Given the description of an element on the screen output the (x, y) to click on. 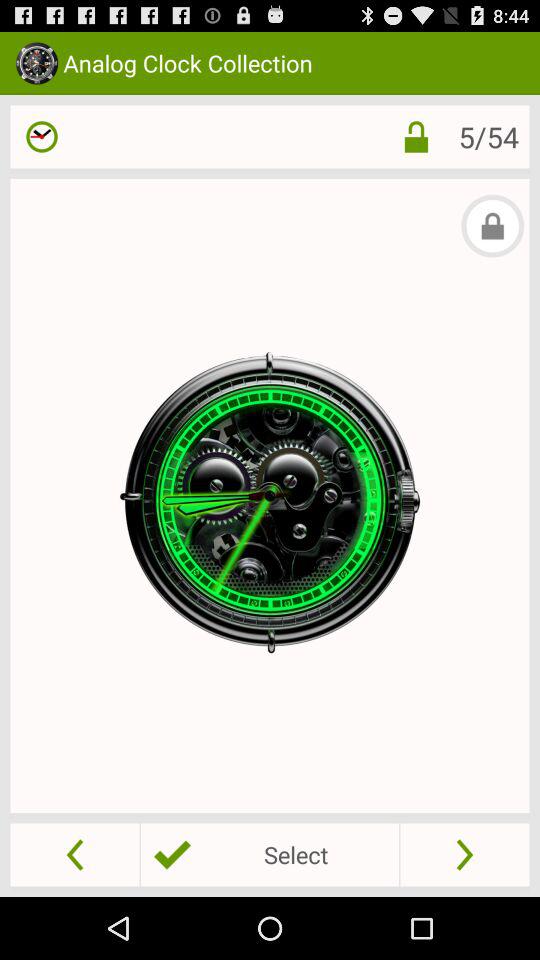
a button that lets you see the previous clock (74, 854)
